Given the description of an element on the screen output the (x, y) to click on. 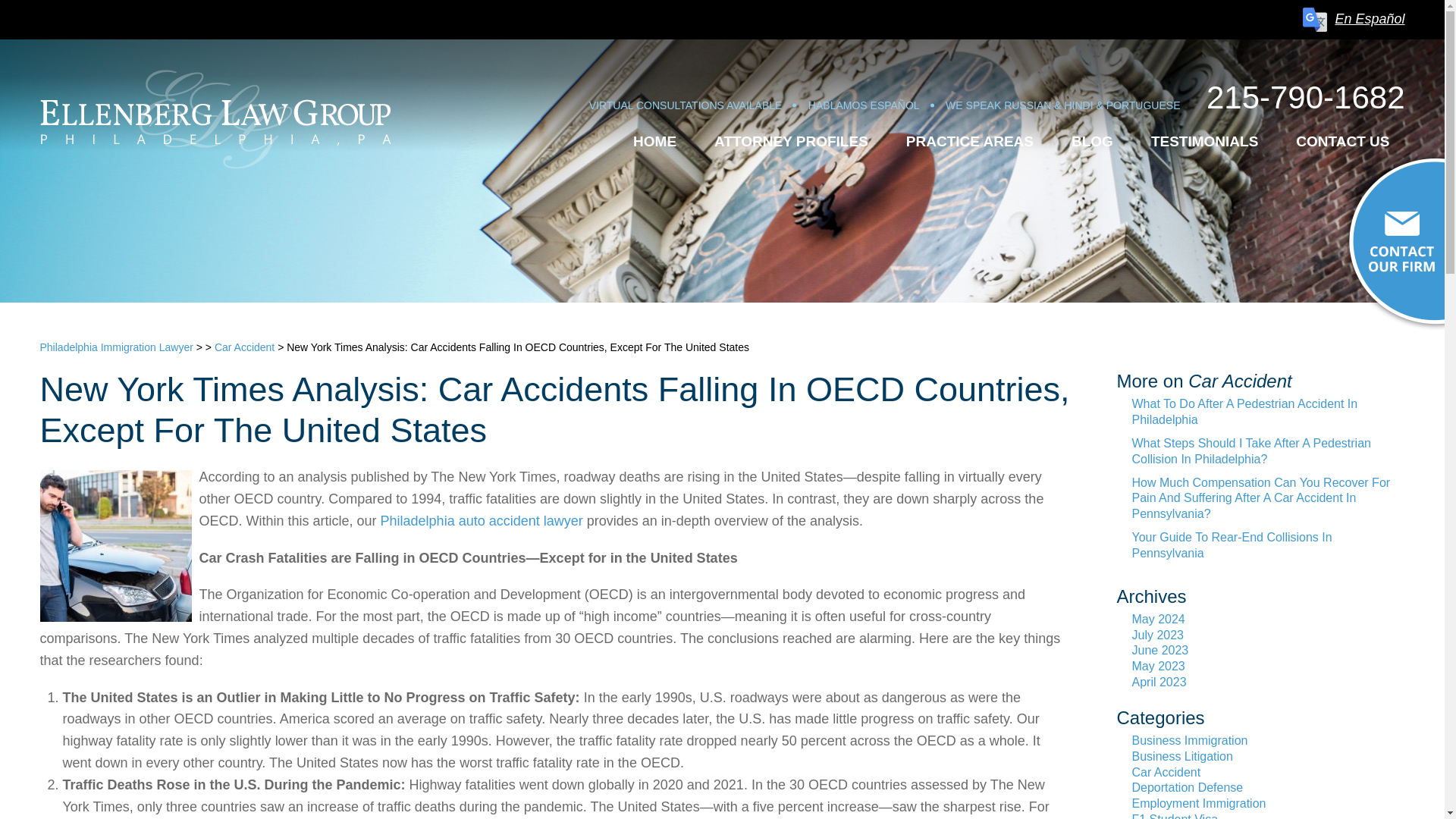
PRACTICE AREAS (969, 127)
HOME (654, 105)
ATTORNEY PROFILES (790, 111)
215-790-1682 (1306, 54)
AfterCarAcc4 (114, 545)
Philadelphia Immigration Lawyer (214, 118)
